Given the description of an element on the screen output the (x, y) to click on. 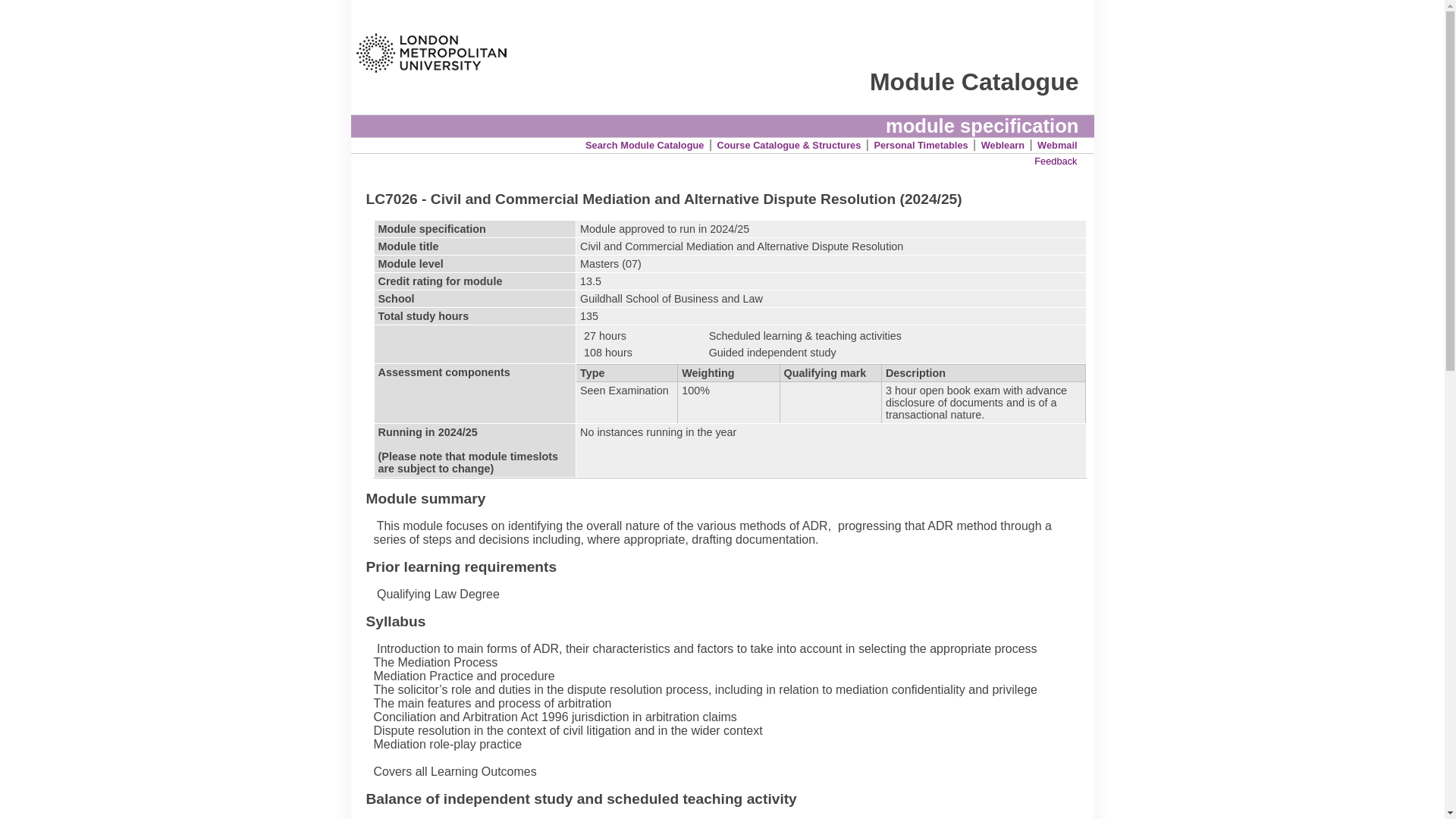
Feedback (1055, 161)
Search Module Catalogue (643, 144)
Personal Timetables (920, 144)
Weblearn (1002, 144)
Webmail (1056, 144)
